Given the description of an element on the screen output the (x, y) to click on. 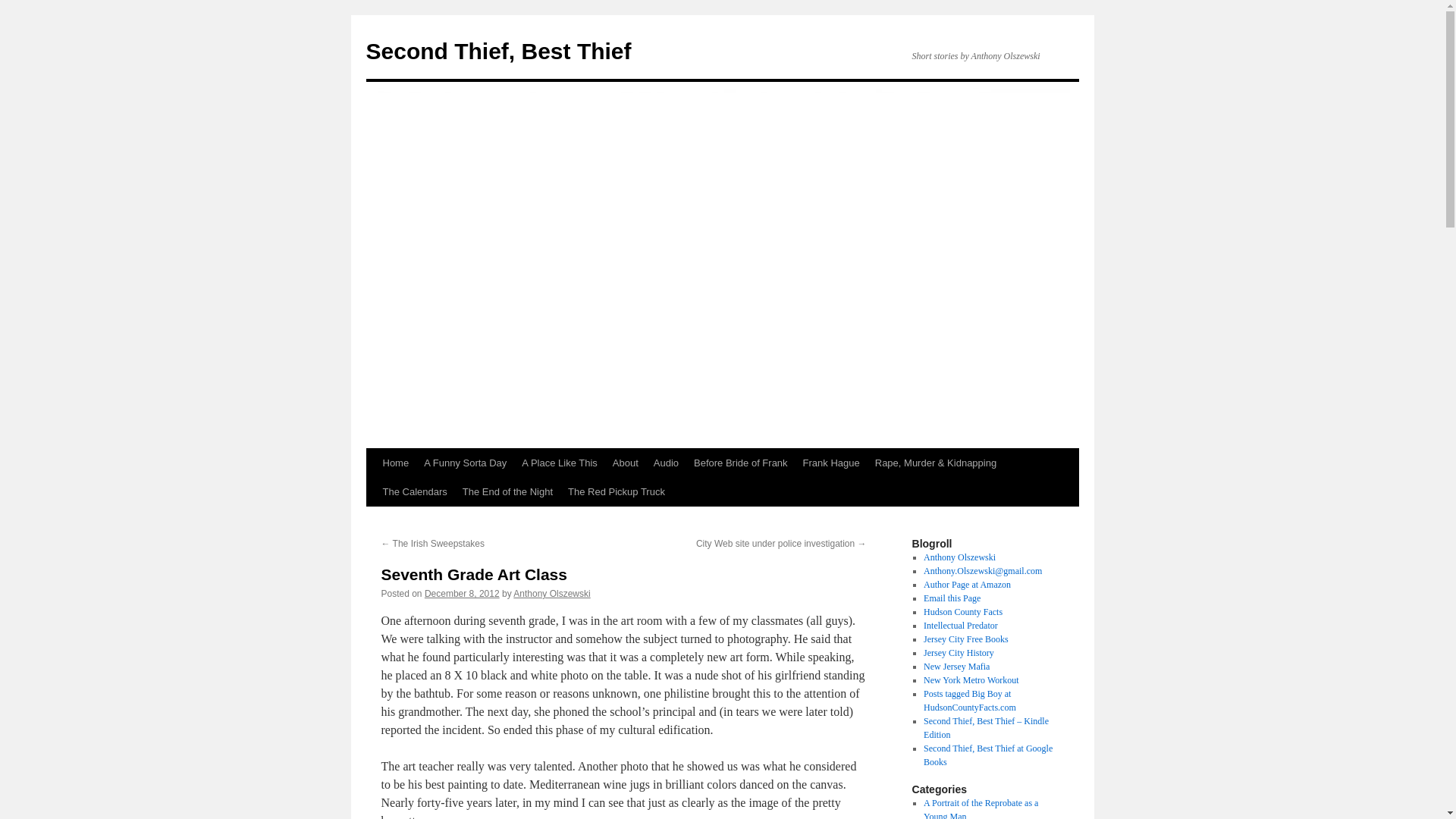
A Funny Sorta Day (464, 462)
Audio (665, 462)
Intellectual Predator (960, 624)
Second Thief, Best Thief at Google Books (987, 754)
New York Metro Workout (970, 679)
Jersey City History (958, 652)
Email this Page (951, 597)
The Red Pickup Truck (616, 491)
New Jersey Mafia (956, 665)
The Calendars (414, 491)
Posts tagged Big Boy at HudsonCountyFacts.com (969, 700)
A Portrait of the Reprobate as a Young Man (980, 808)
Frank Hague (830, 462)
Author Page at Amazon (966, 584)
4:51 pm (462, 593)
